Given the description of an element on the screen output the (x, y) to click on. 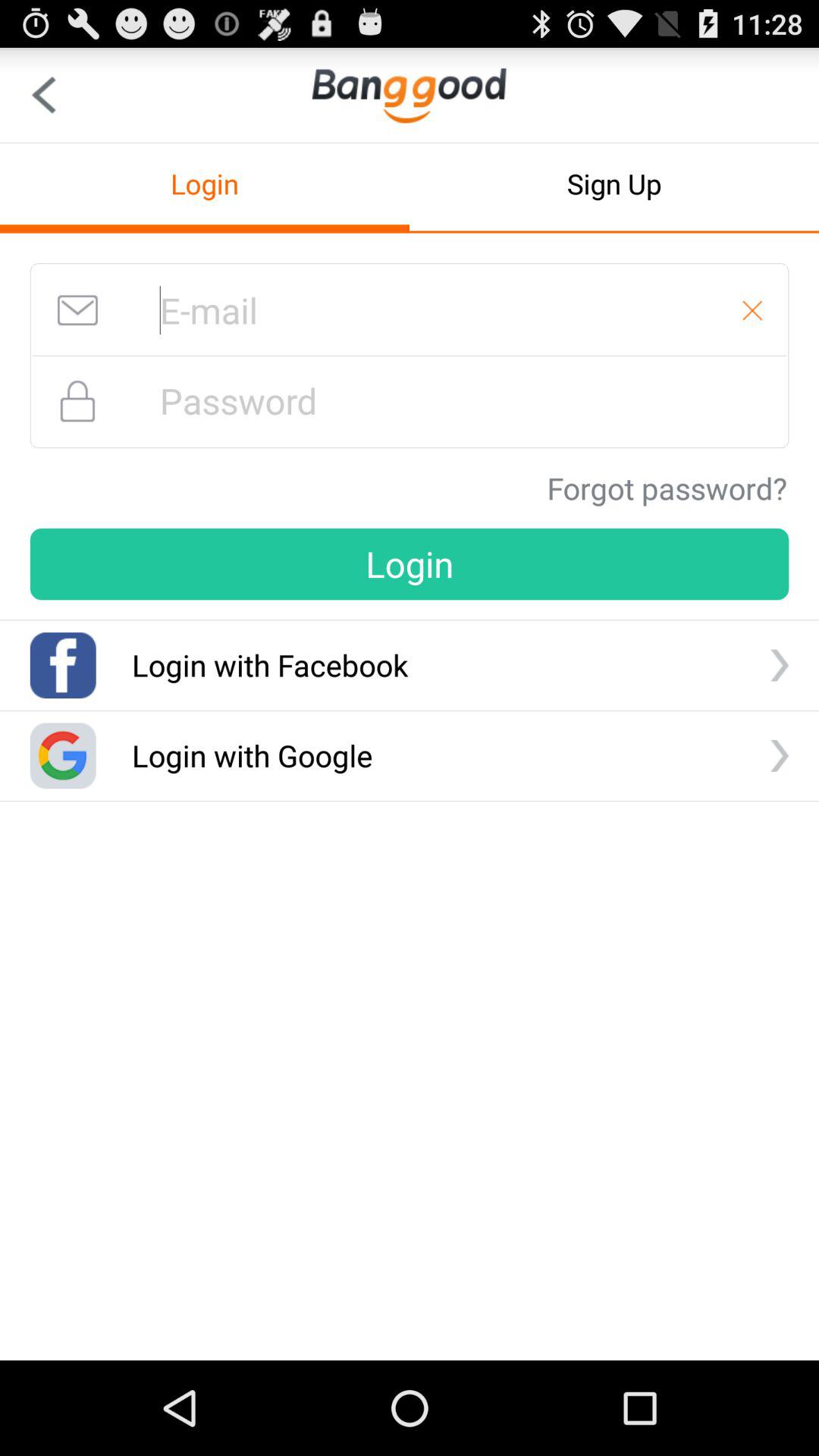
enter email to login (409, 310)
